Given the description of an element on the screen output the (x, y) to click on. 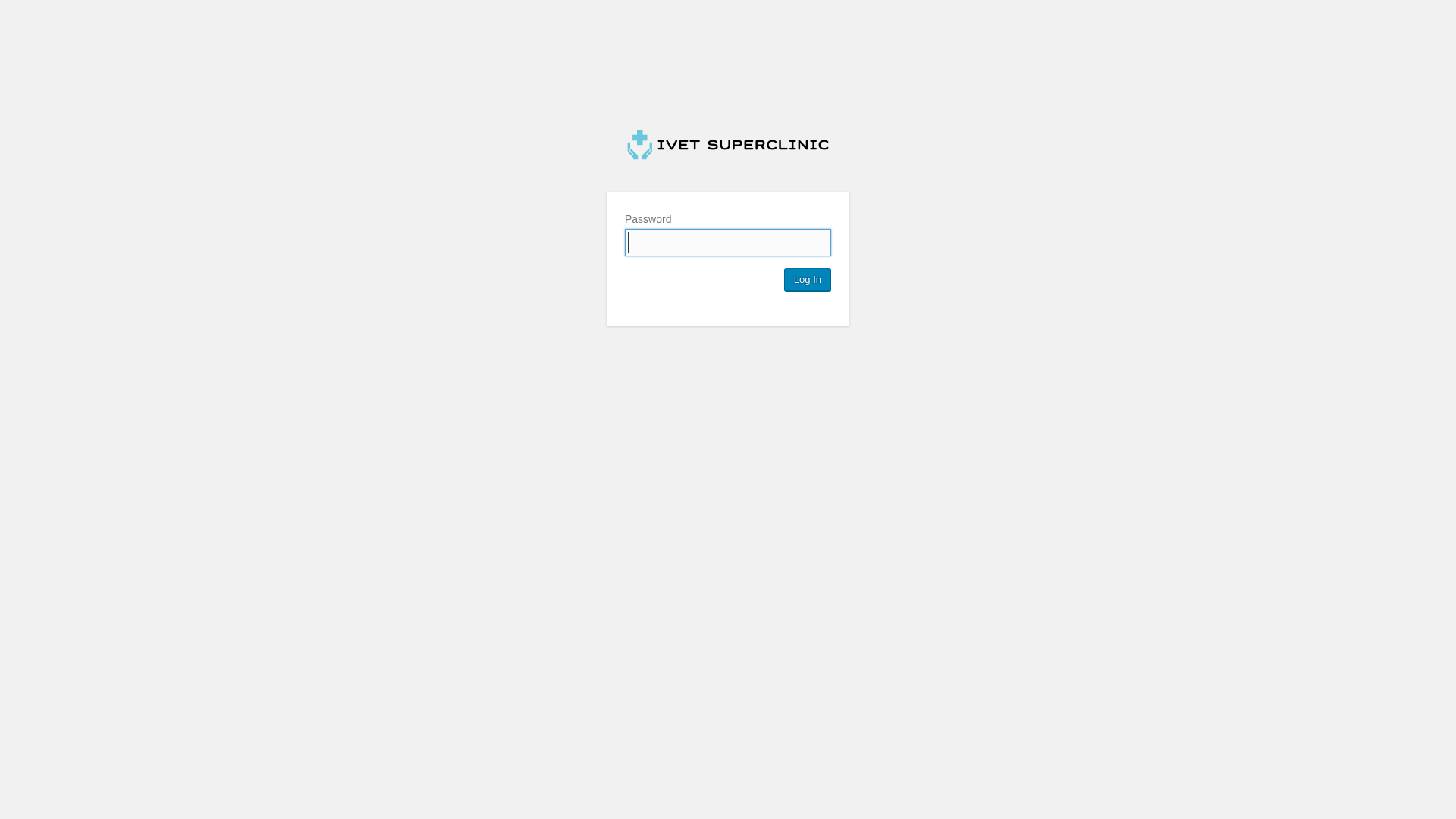
IVET SUPERCLINIC Element type: text (727, 144)
Log In Element type: text (807, 279)
